Given the description of an element on the screen output the (x, y) to click on. 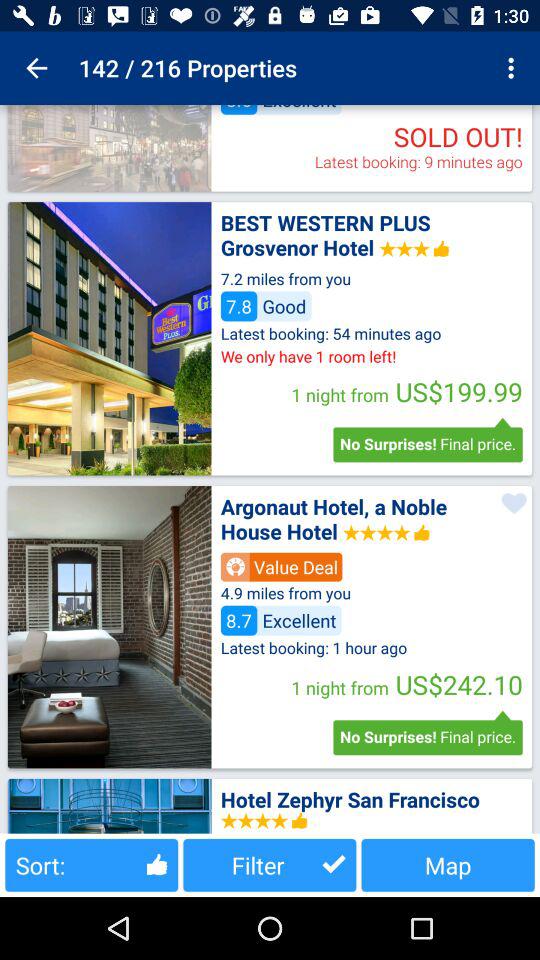
tap the item to the right of excellent (513, 67)
